Given the description of an element on the screen output the (x, y) to click on. 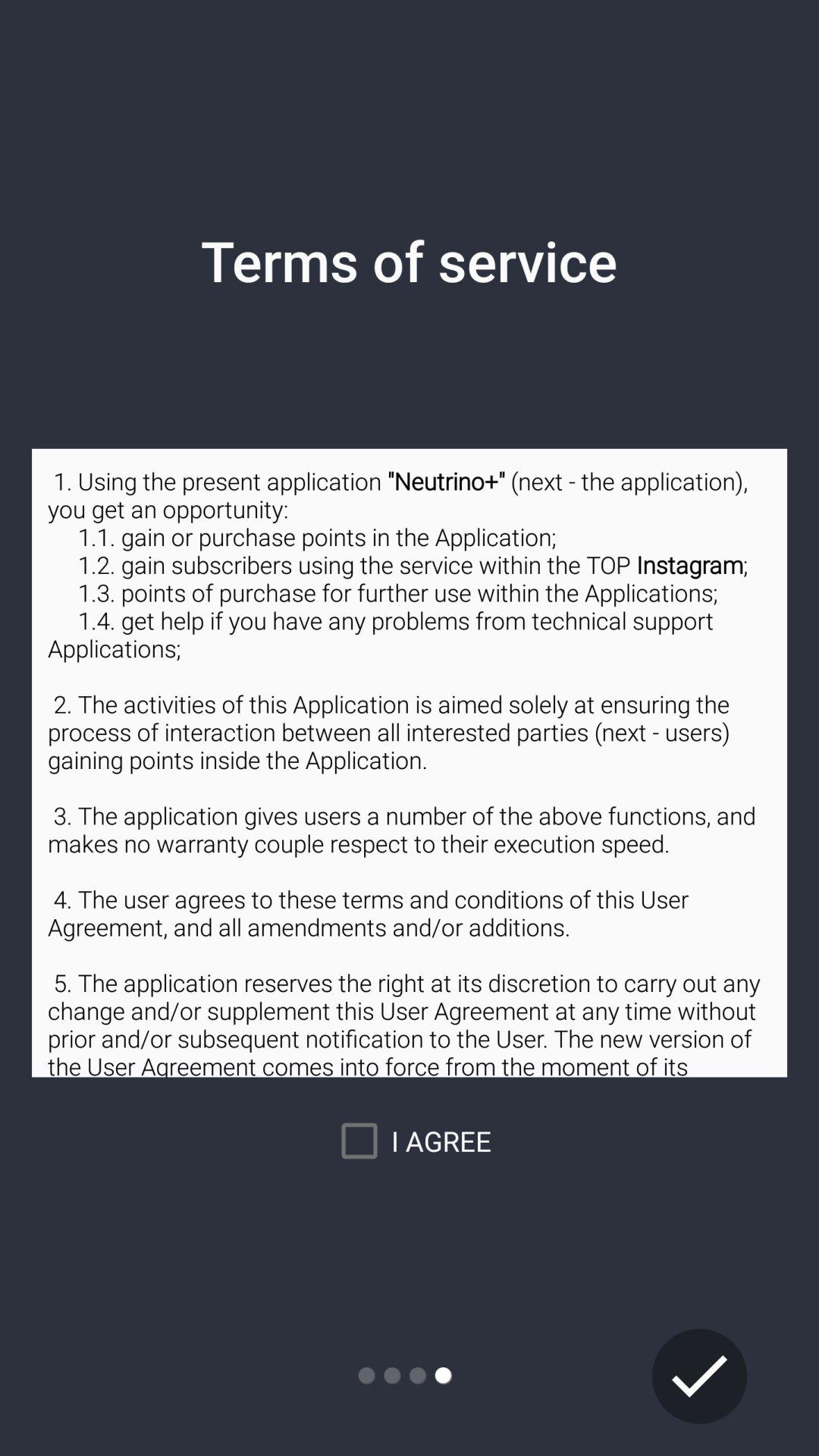
launch the icon below 1 using the icon (409, 1140)
